Given the description of an element on the screen output the (x, y) to click on. 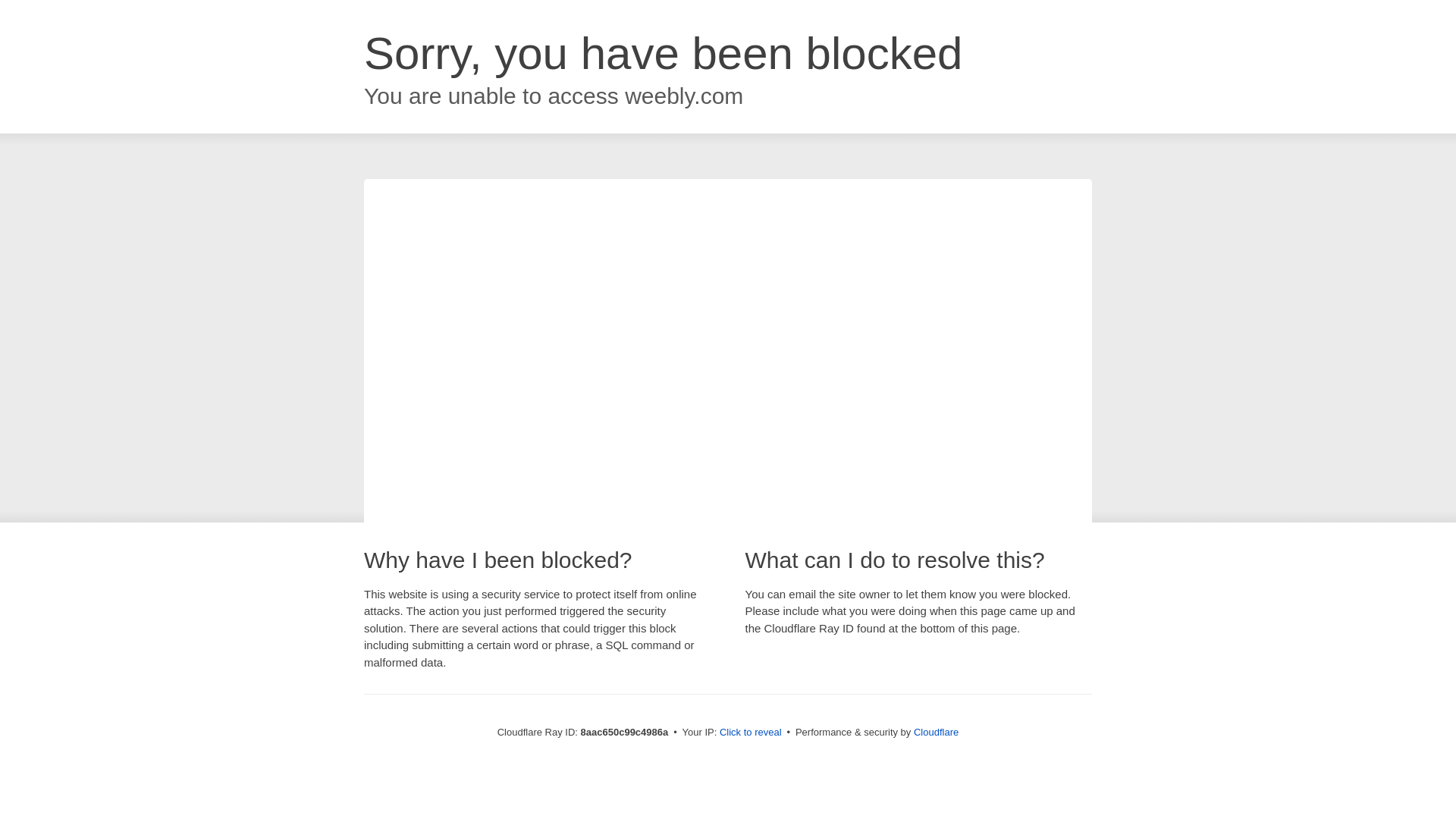
Click to reveal (750, 732)
Cloudflare (936, 731)
